Given the description of an element on the screen output the (x, y) to click on. 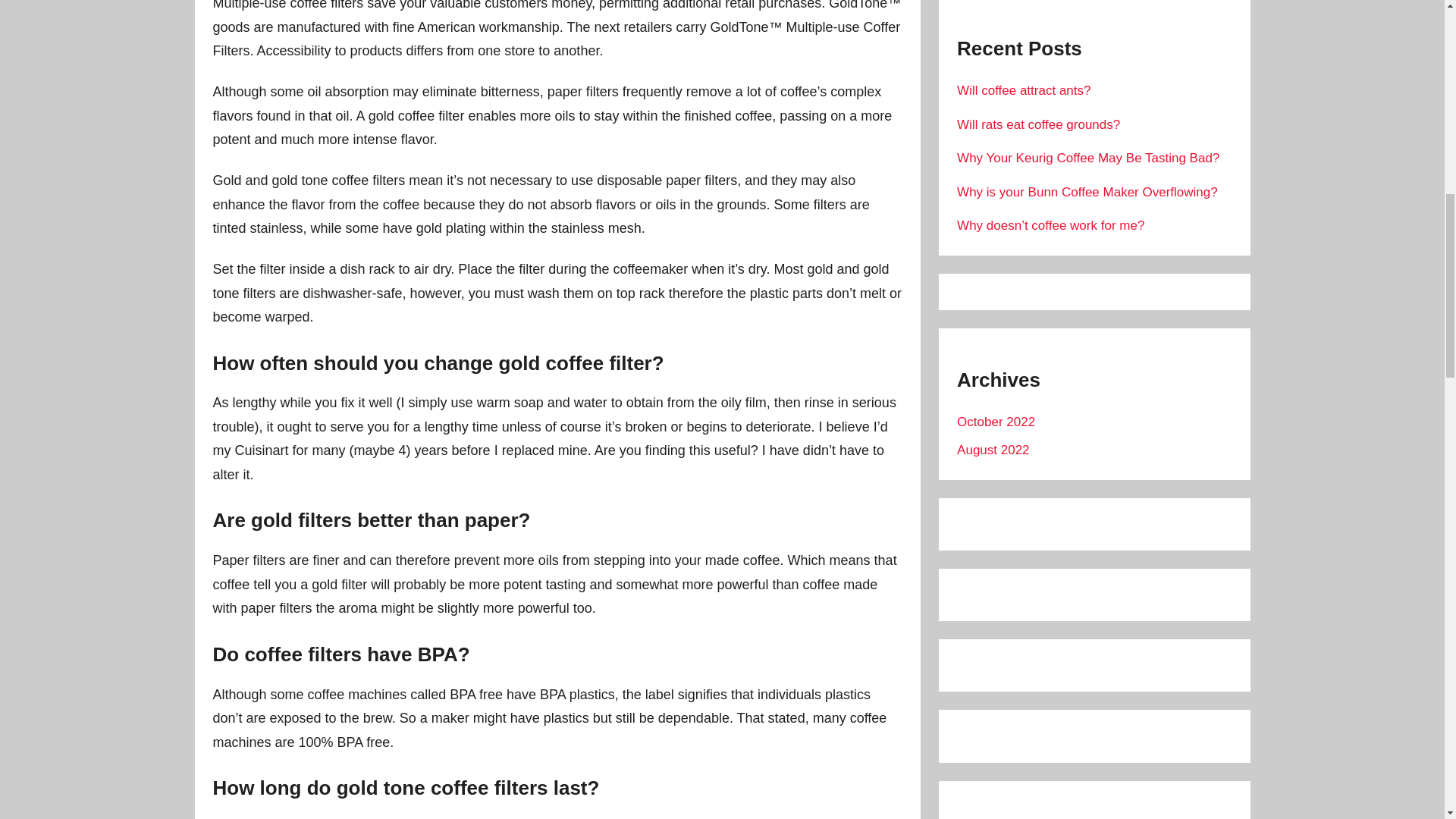
Will coffee attract ants? (1023, 90)
August 2022 (992, 450)
Why is your Bunn Coffee Maker Overflowing? (1086, 192)
Why Your Keurig Coffee May Be Tasting Bad? (1088, 157)
October 2022 (995, 421)
Will rats eat coffee grounds? (1037, 124)
